Given the description of an element on the screen output the (x, y) to click on. 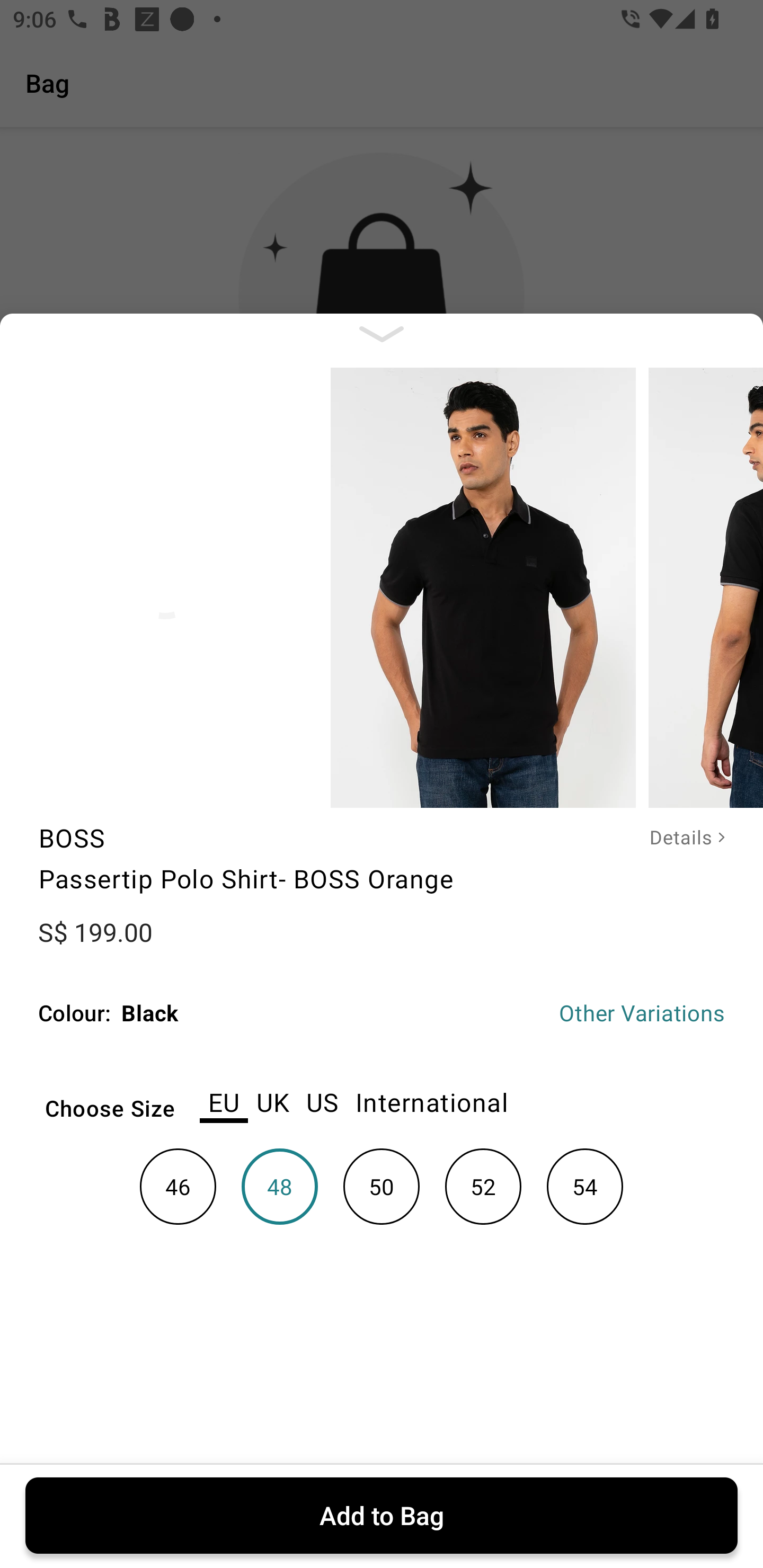
Details (673, 838)
Other Variations (641, 1012)
UK (272, 1094)
US (322, 1094)
International (431, 1094)
46 (177, 1185)
48 (279, 1185)
50 (381, 1185)
52 (483, 1185)
54 (584, 1185)
Add to Bag (381, 1515)
